Given the description of an element on the screen output the (x, y) to click on. 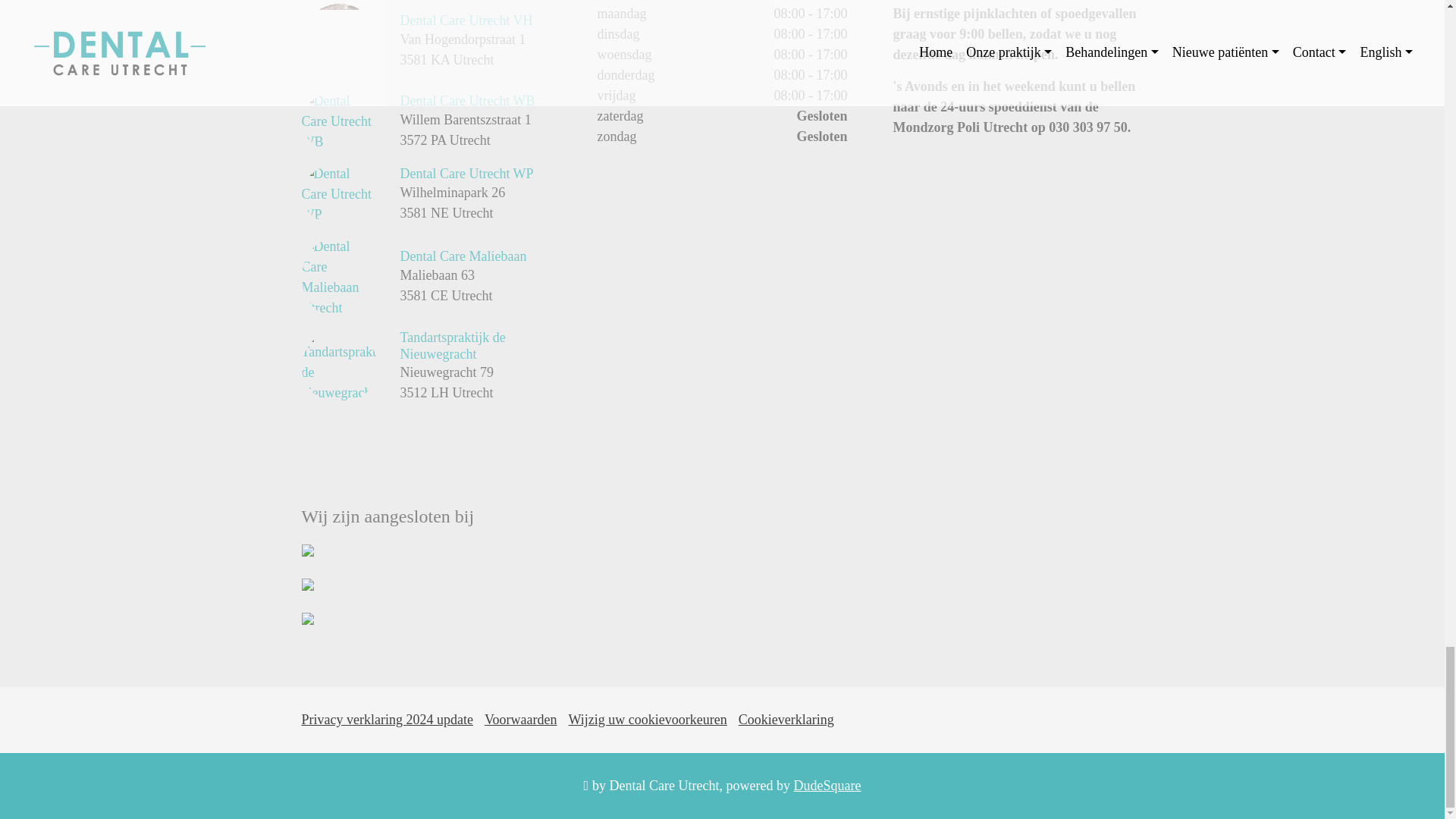
Tandartspraktijk de Nieuwegracht (452, 345)
Ga naar de website van DudeSquare (826, 785)
Dental Care Maliebaan (339, 277)
Dental Care Utrecht WB (467, 100)
Dental Care Utrecht WP (339, 194)
Dental Care Utrecht WP (467, 173)
Dental Care Utrecht VH (339, 41)
Voorwaarden (520, 719)
Privacy verklaring 2024 update (387, 719)
Tandartspraktijk de Nieuwegracht (339, 366)
